Given the description of an element on the screen output the (x, y) to click on. 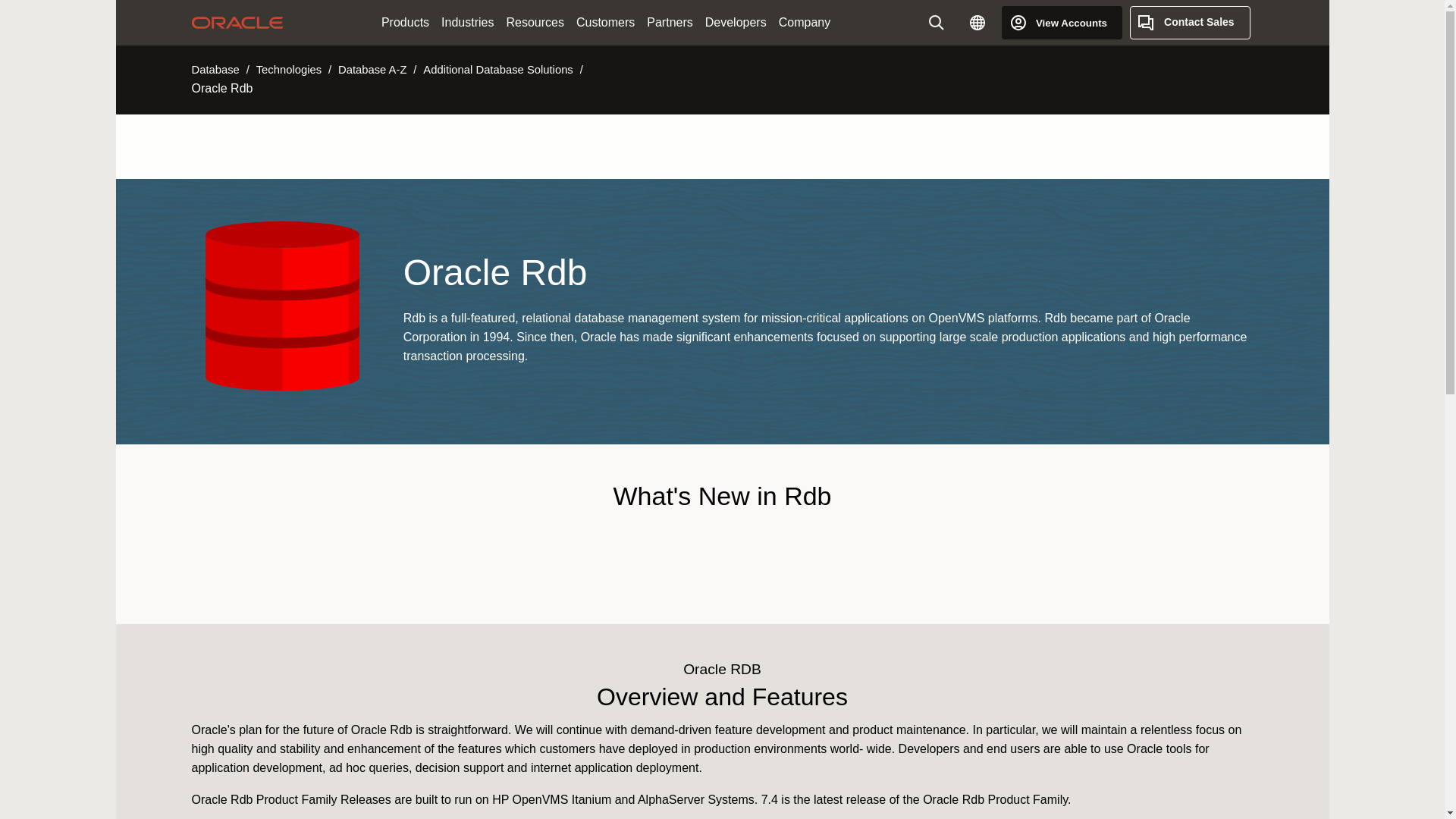
Industries (467, 22)
Additional Database Solutions (497, 69)
Database A-Z (371, 69)
Contact Sales (1189, 22)
Country (977, 22)
Partners (669, 22)
Technologies (288, 69)
Products (405, 22)
Database (214, 69)
Developers (735, 22)
